Given the description of an element on the screen output the (x, y) to click on. 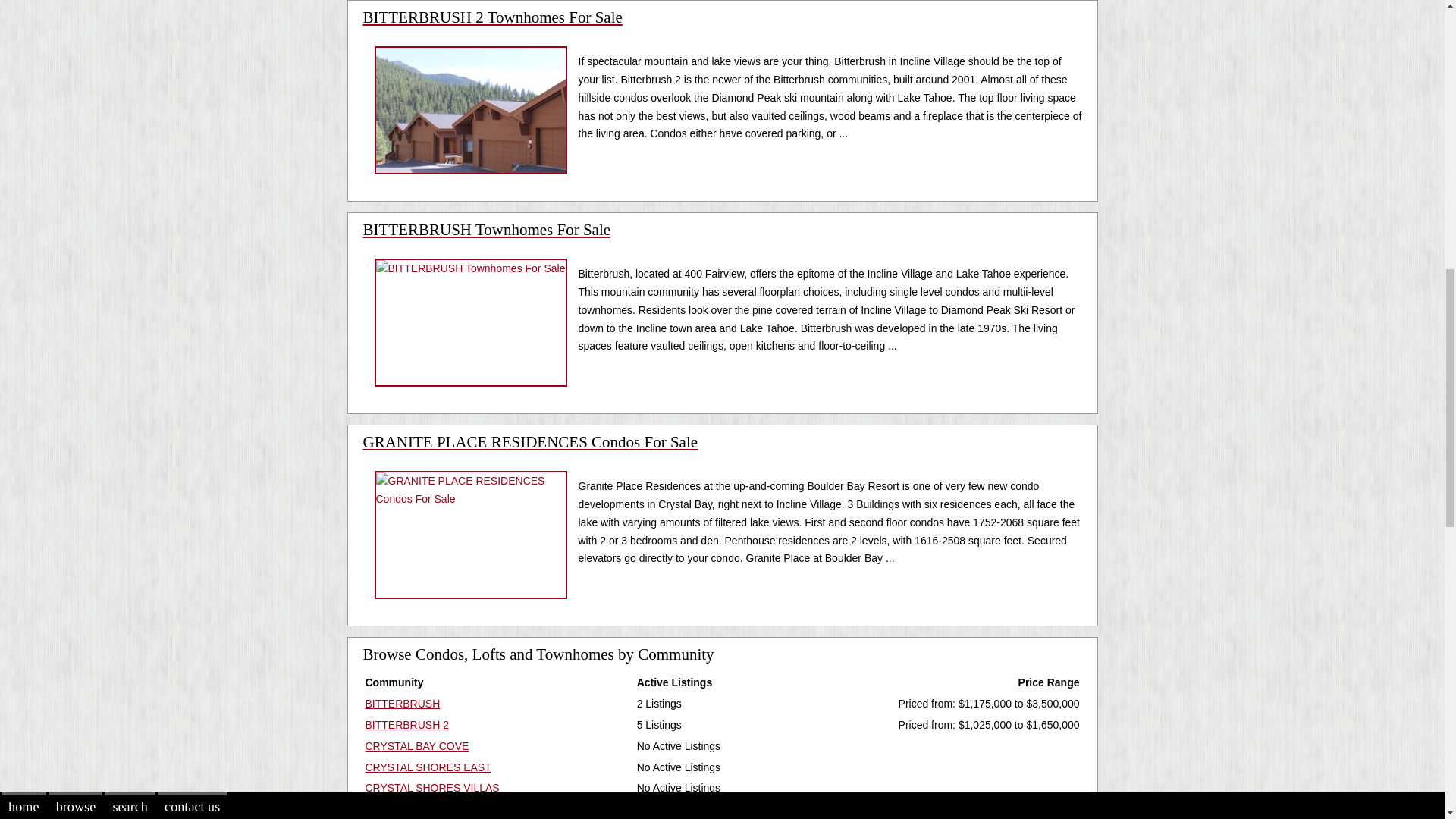
CRYSTAL SHORES EAST (428, 767)
BITTERBRUSH Townhomes For Sale (721, 240)
BITTERBRUSH 2 Condos For Sale (406, 725)
BITTERBRUSH (403, 703)
CRYSTAL SHORES WEST Condos For Sale (430, 808)
BITTERBRUSH 2 Townhomes For Sale (721, 28)
CRYSTAL SHORES WEST (430, 808)
CRYSTAL BAY COVE (416, 746)
CRYSTAL SHORES VILLAS Condos For Sale (432, 787)
GRANITE PLACE RESIDENCES Condos For Sale (721, 453)
CRYSTAL SHORES VILLAS (432, 787)
CRYSTAL SHORES EAST Condos For Sale (428, 767)
BITTERBRUSH Condos For Sale (403, 703)
BITTERBRUSH 2 (406, 725)
CRYSTAL BAY COVE Condos For Sale (416, 746)
